Given the description of an element on the screen output the (x, y) to click on. 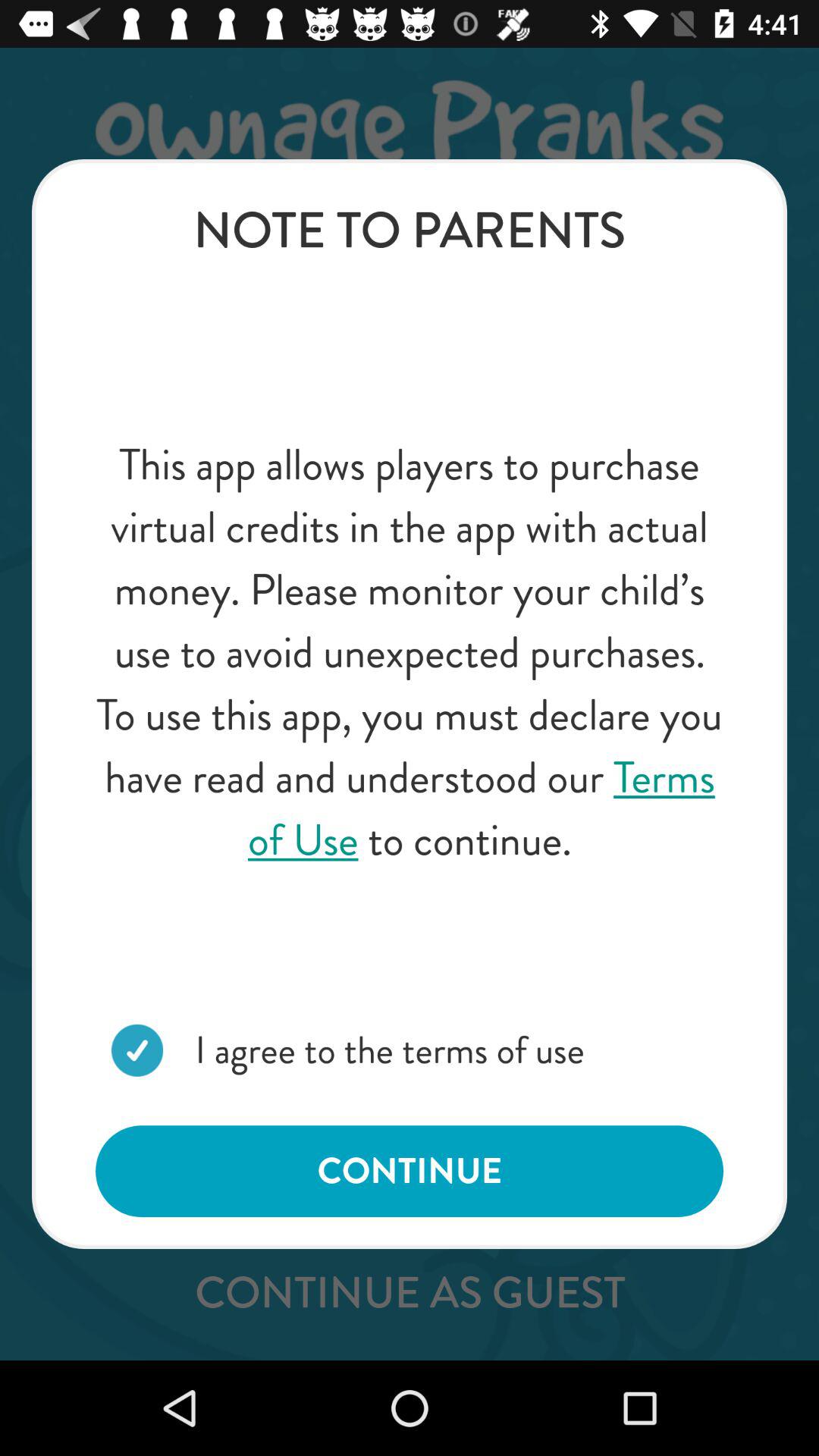
click the item above the i agree to icon (409, 652)
